Given the description of an element on the screen output the (x, y) to click on. 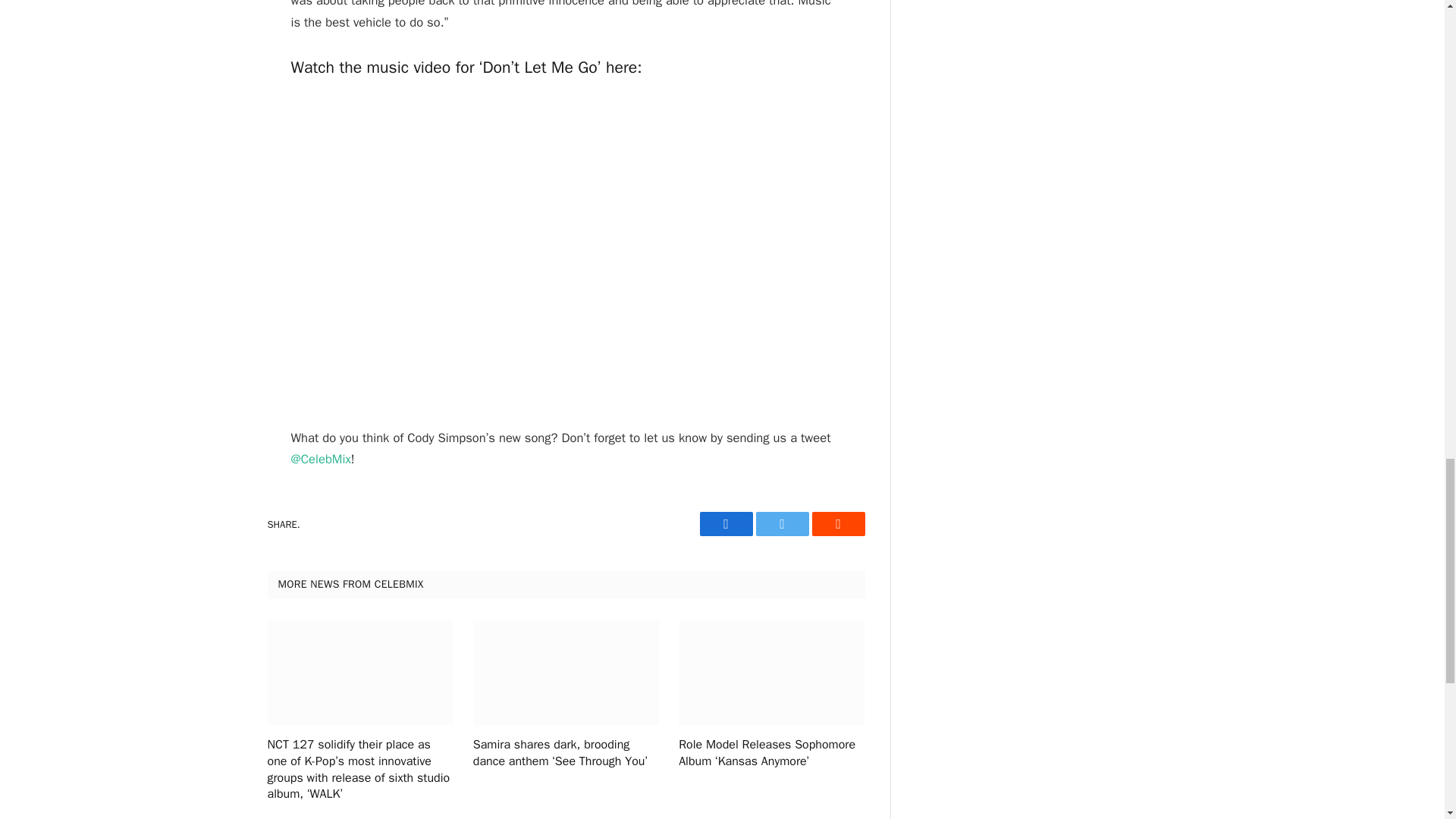
Twitter (781, 523)
Facebook (725, 523)
Reddit (837, 523)
